Given the description of an element on the screen output the (x, y) to click on. 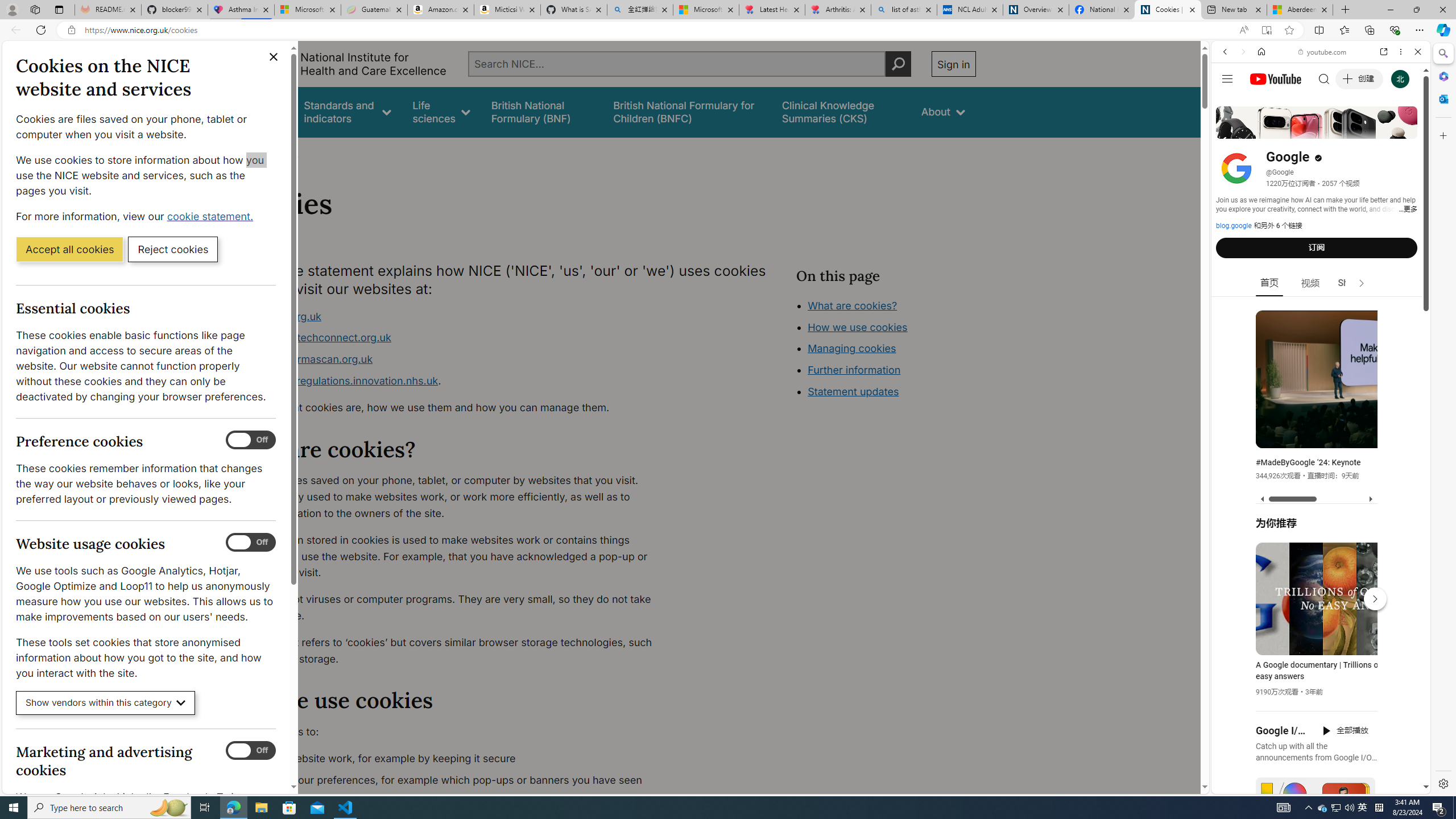
Class: style-scope tp-yt-iron-icon (1361, 283)
Class: in-page-nav__list (884, 349)
Website usage cookies (250, 542)
Life sciences (440, 111)
Marketing and advertising cookies (250, 750)
www.nice.org.uk (279, 315)
